Given the description of an element on the screen output the (x, y) to click on. 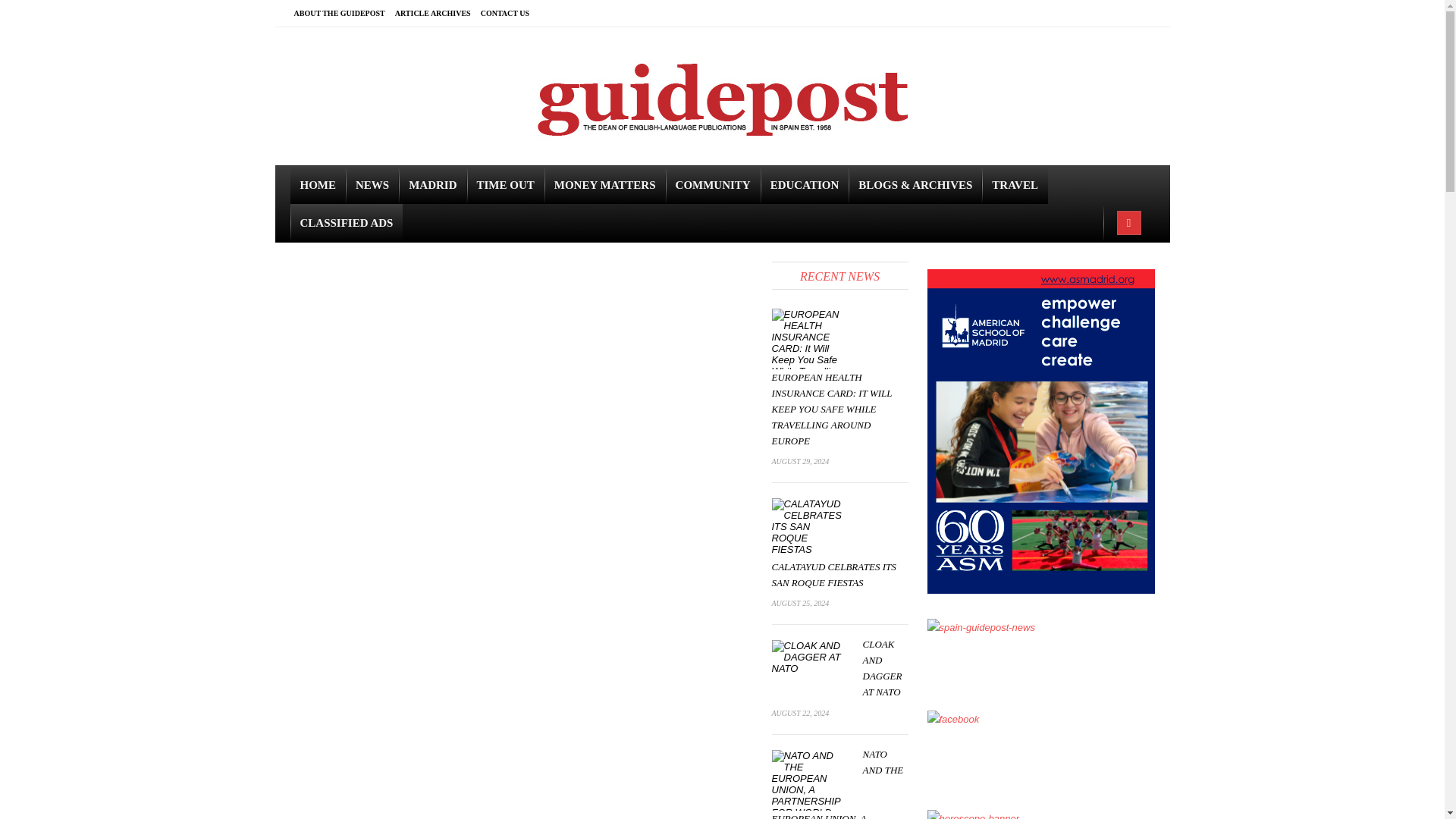
ARTICLE ARCHIVES (437, 13)
EDUCATION (804, 184)
NEWS (372, 184)
MADRID (431, 184)
CONTACT US (509, 13)
ABOUT THE GUIDEPOST (344, 13)
CLASSIFIED ADS (346, 222)
Search (11, 9)
COMMUNITY (712, 184)
HOME (317, 184)
